Given the description of an element on the screen output the (x, y) to click on. 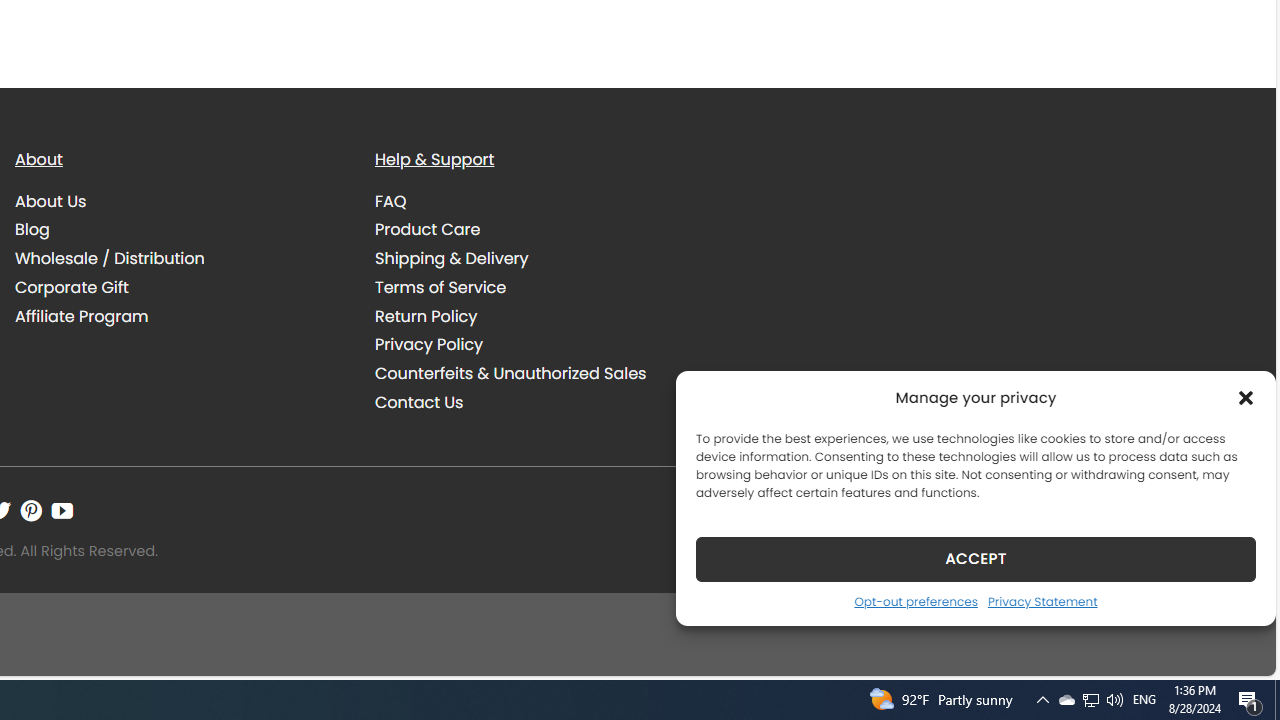
Wholesale / Distribution (180, 259)
Return Policy (540, 316)
Blog (32, 229)
Class: cmplz-close (1245, 397)
Counterfeits & Unauthorized Sales (510, 373)
About Us (51, 200)
Shipping & Delivery (451, 258)
Go to top (1234, 647)
Blog (180, 229)
FAQ (391, 200)
About Us (180, 201)
Affiliate Program (180, 316)
Privacy Policy (540, 345)
Follow on Pinterest (31, 511)
